Given the description of an element on the screen output the (x, y) to click on. 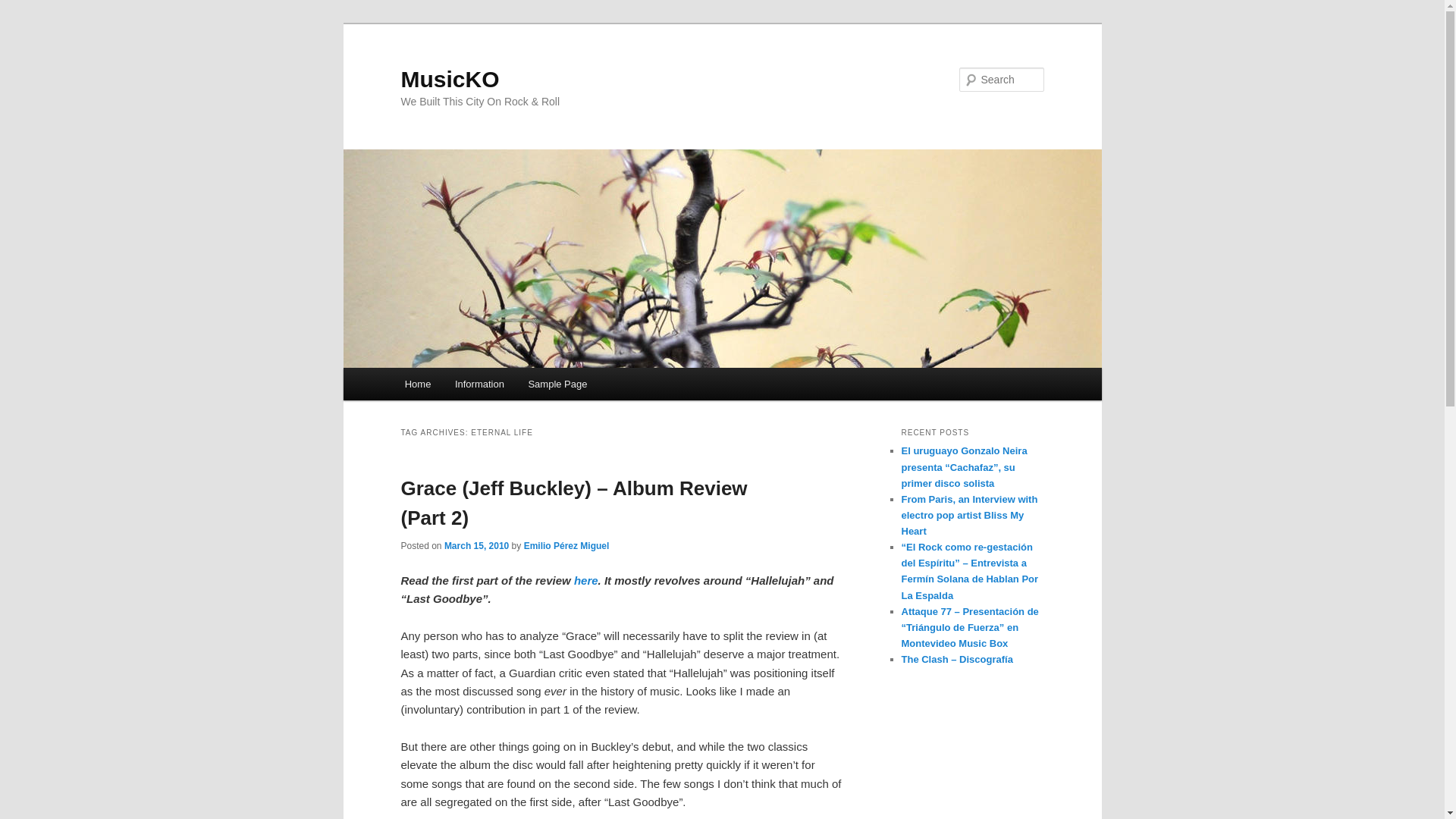
here (585, 580)
MusicKO (449, 78)
Sample Page (557, 383)
Information (479, 383)
Search (24, 8)
1:26 pm (476, 545)
Home (417, 383)
March 15, 2010 (476, 545)
